Given the description of an element on the screen output the (x, y) to click on. 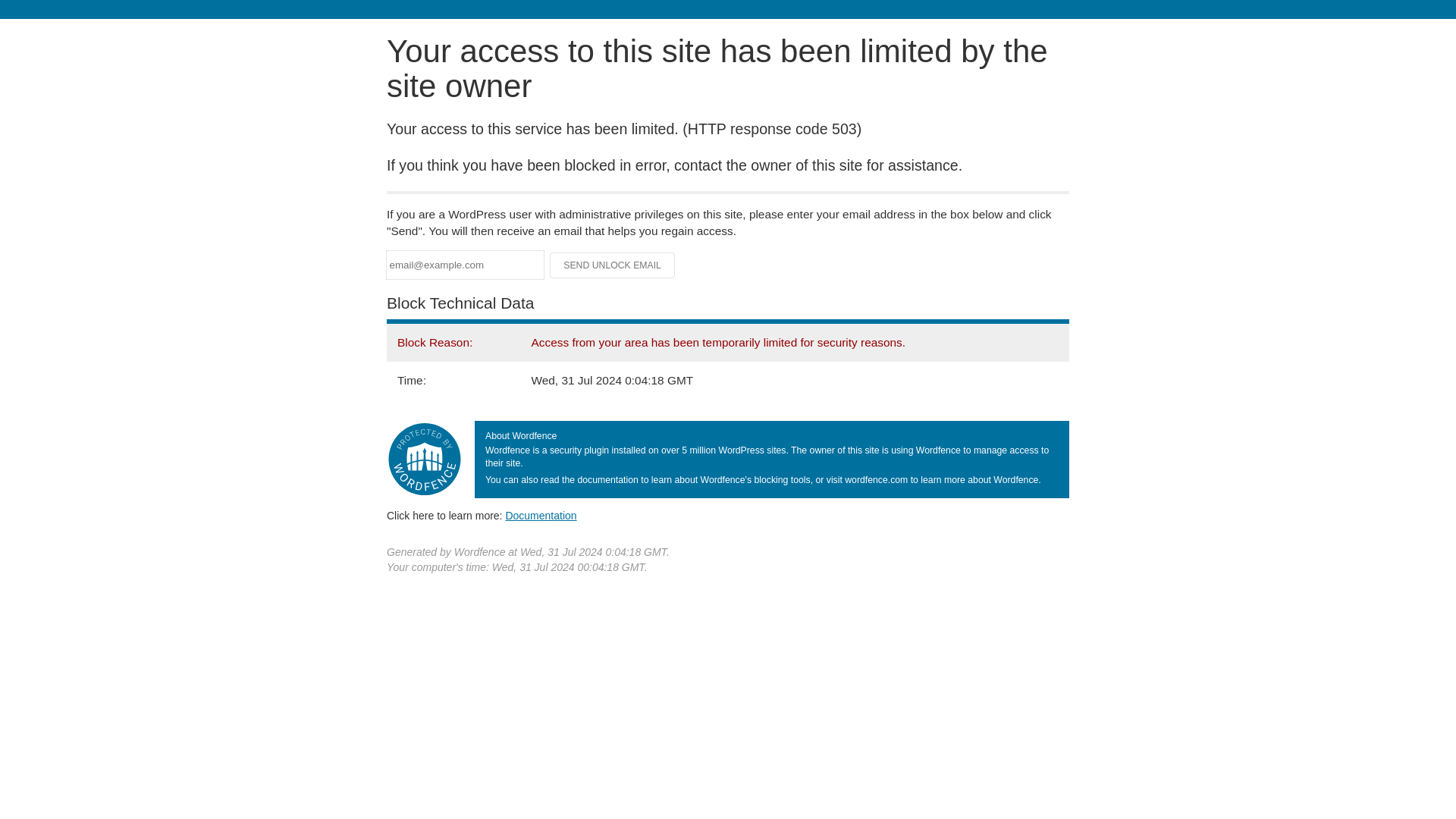
Send Unlock Email (612, 265)
Send Unlock Email (612, 265)
Documentation (540, 515)
